Given the description of an element on the screen output the (x, y) to click on. 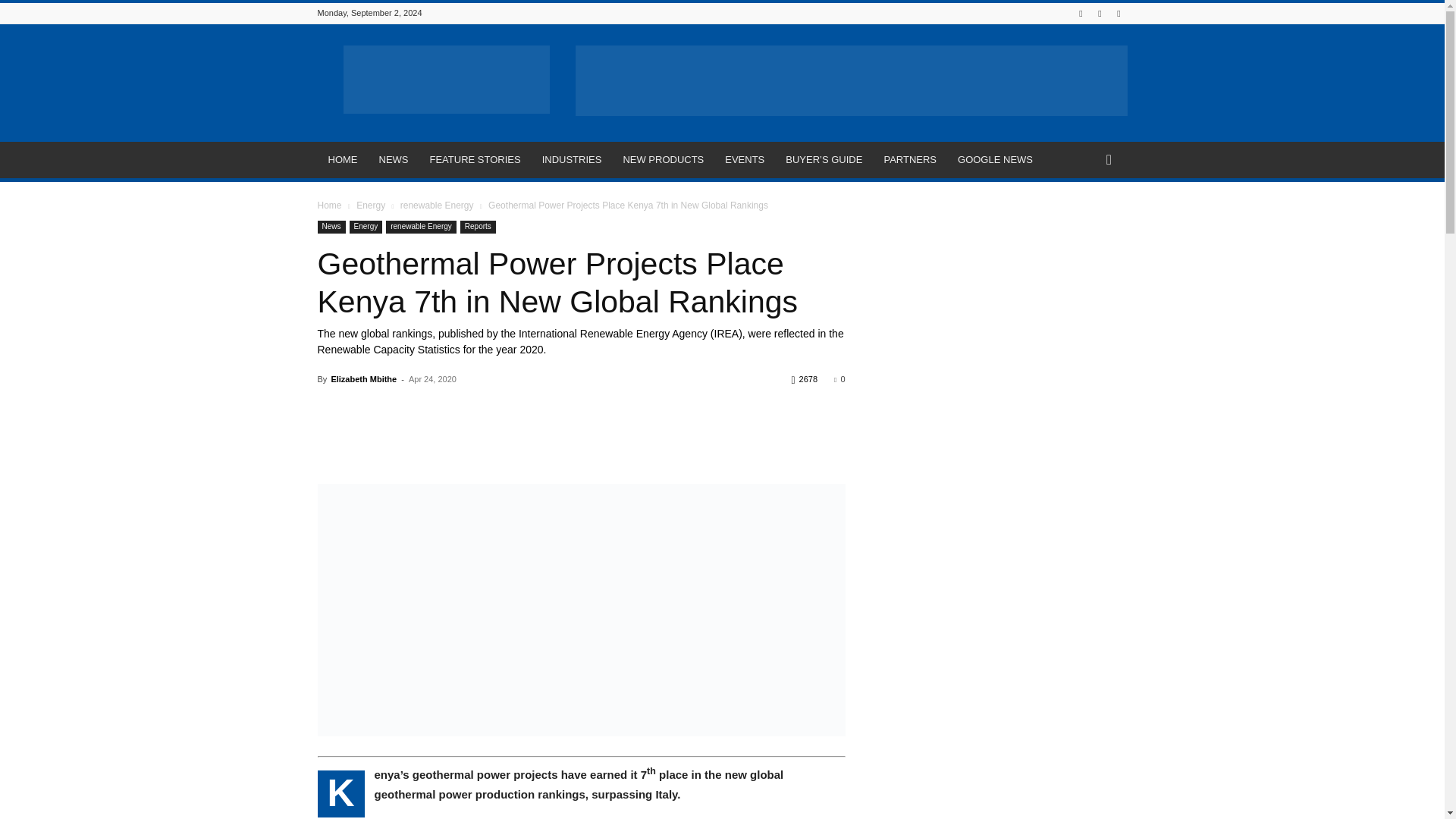
View all posts in Energy (370, 204)
View all posts in renewable Energy (437, 204)
NEWS (393, 159)
topFacebookLike (430, 406)
HOME (342, 159)
